Given the description of an element on the screen output the (x, y) to click on. 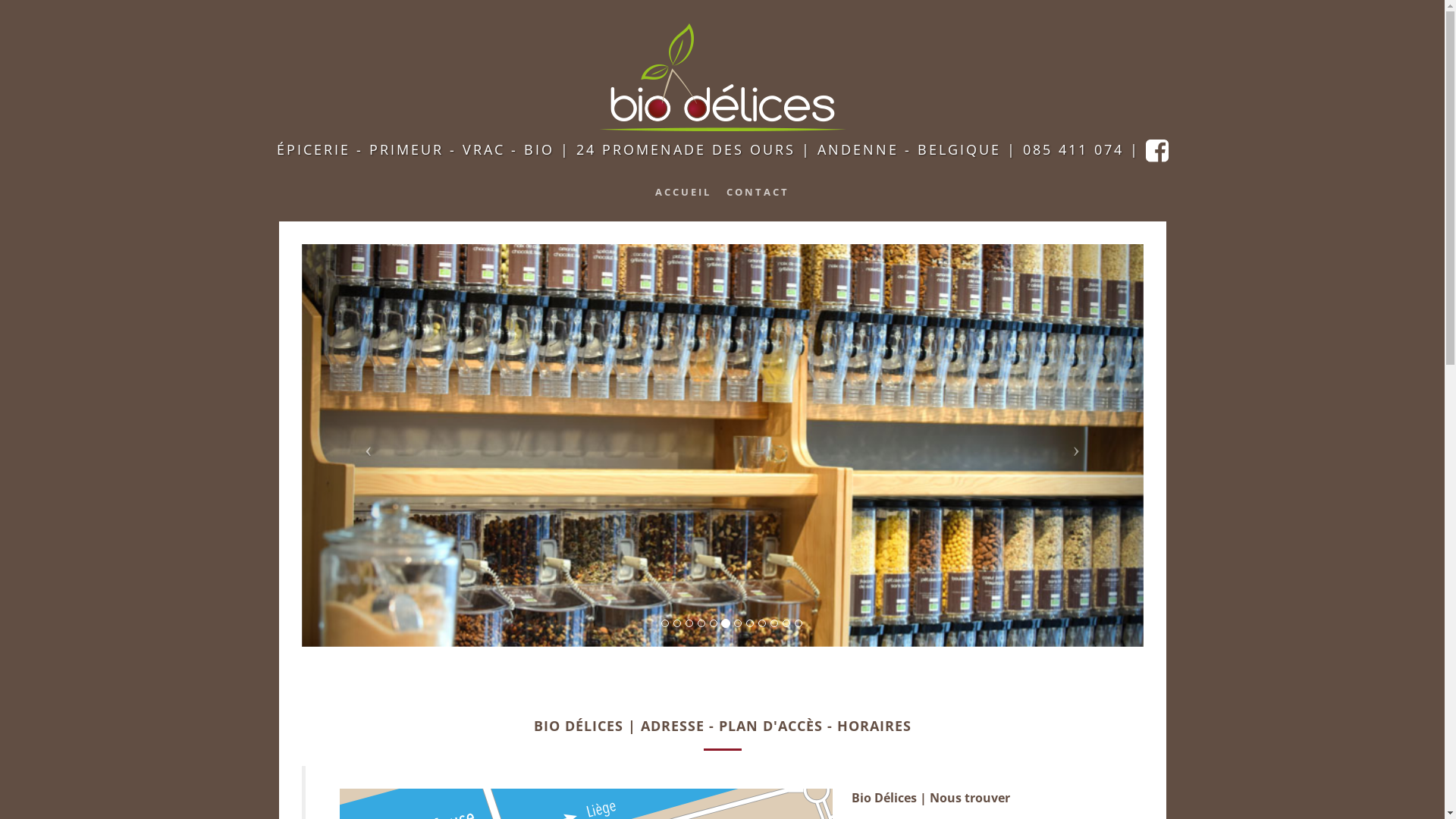
ACCUEIL Element type: text (682, 191)
CONTACT Element type: text (757, 191)
